Given the description of an element on the screen output the (x, y) to click on. 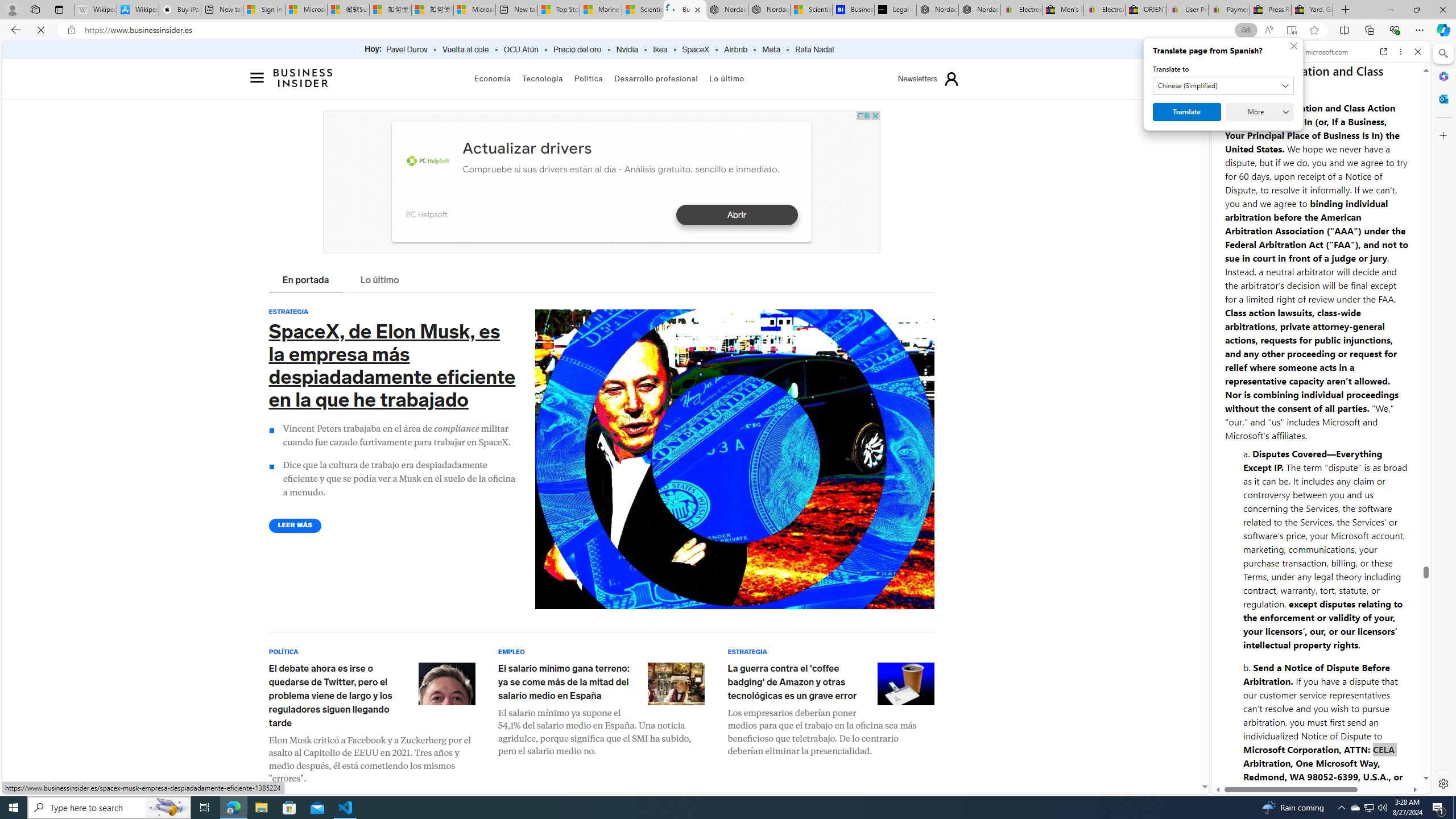
Minimize Search pane (1442, 53)
User Privacy Notice | eBay (1186, 9)
Coffee Badgings (905, 683)
microsoft.com (1323, 51)
Abrir (736, 214)
Desarrollo profesional (656, 78)
Vuelta al cole (464, 49)
SpaceX (695, 49)
